Given the description of an element on the screen output the (x, y) to click on. 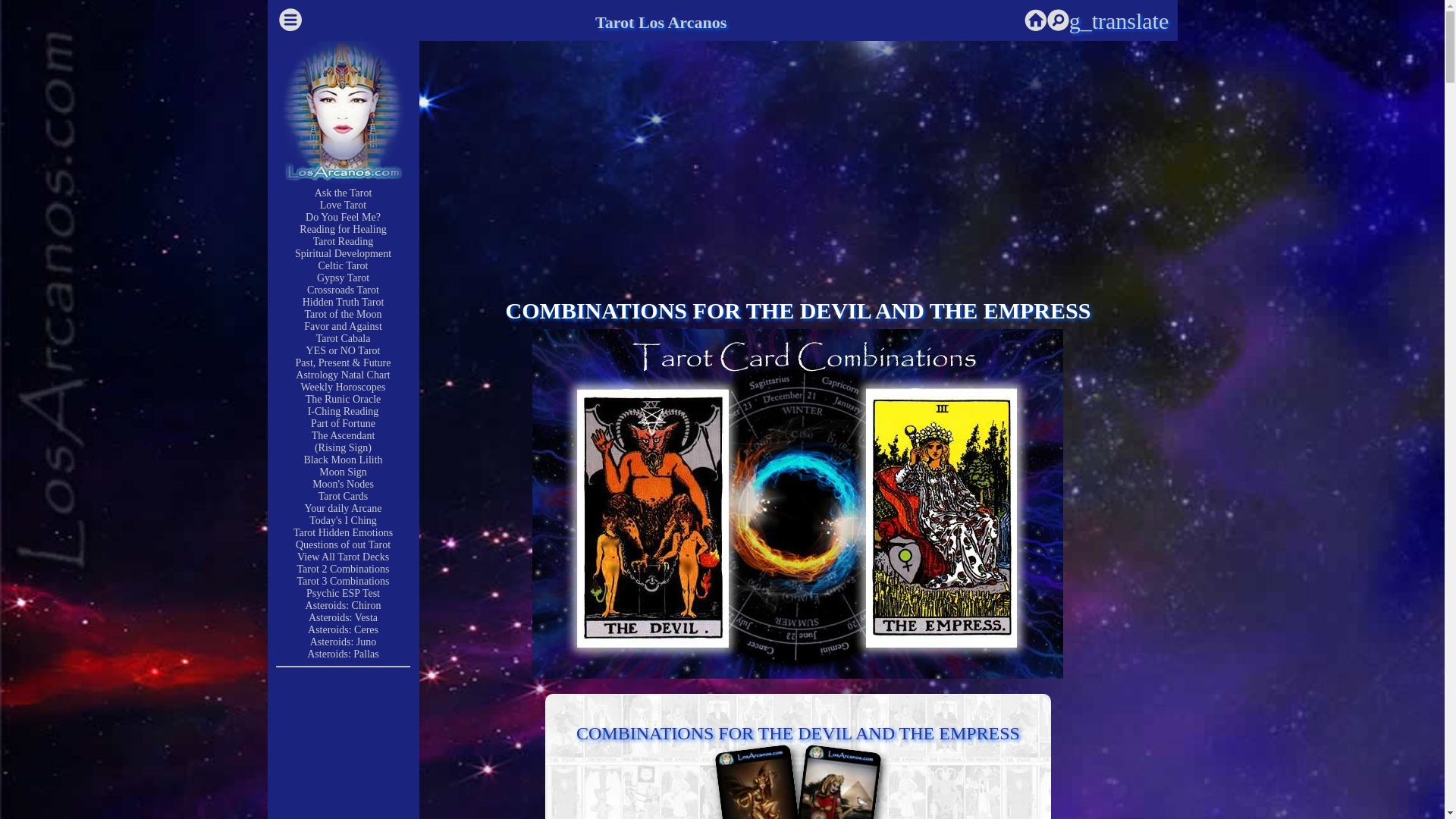
Tarot Los Arcanos (660, 22)
YES or NO Tarot (342, 350)
Favor and Against (342, 326)
Tarot Cards (343, 496)
Gypsy Tarot (343, 277)
Tarot Cabala (343, 337)
Tarot Reading (343, 241)
Tarot Hidden Emotions (343, 532)
Psychic ESP Test (342, 593)
Love Tarot (343, 204)
Crossroads Tarot (342, 289)
Reading for Healing (342, 229)
Astrology Natal Chart (342, 374)
Spiritual Development (343, 253)
Ask the Tarot (343, 193)
